Given the description of an element on the screen output the (x, y) to click on. 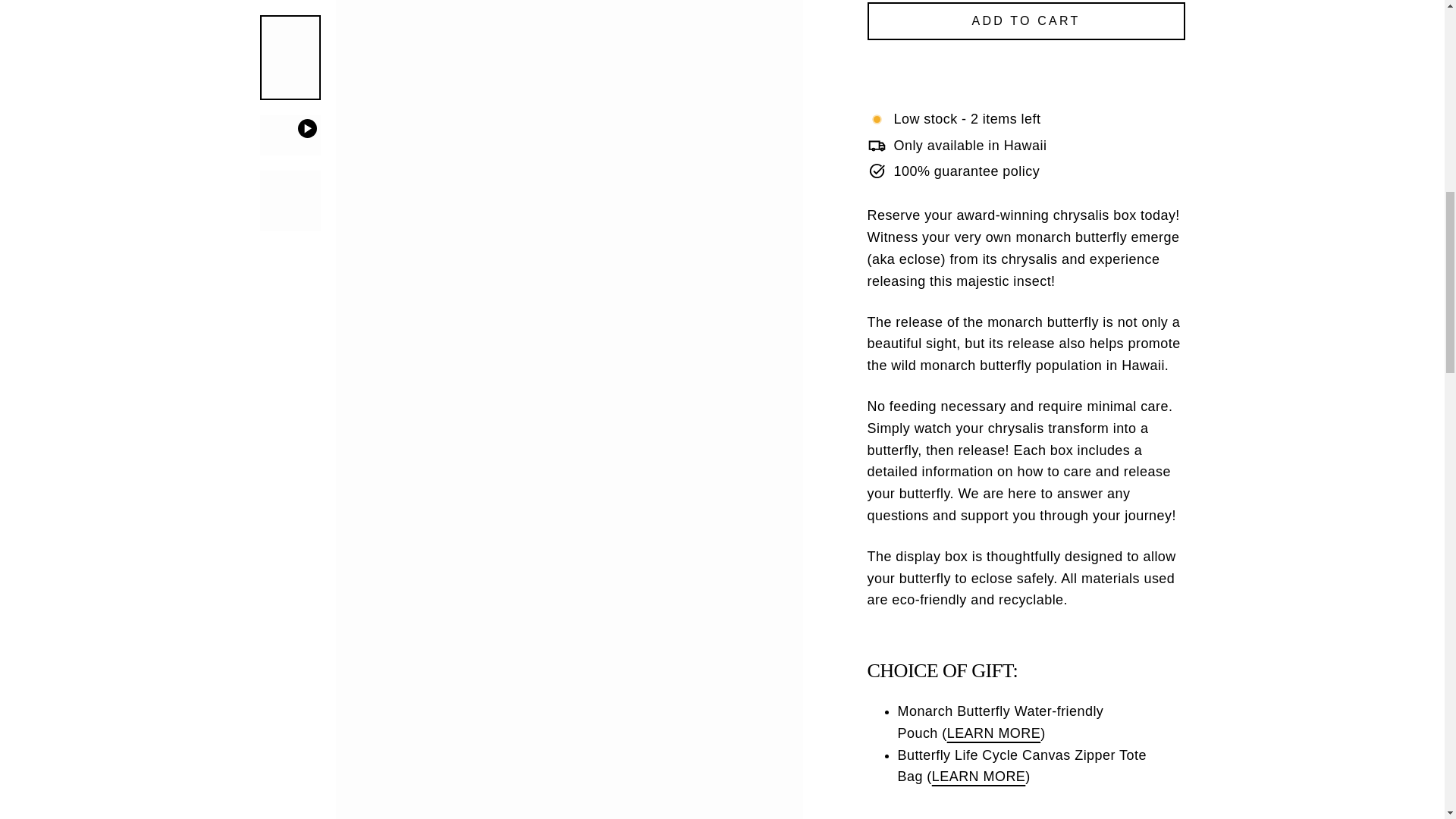
Tweet on Twitter (1028, 631)
Monarch Butterfly Water-friendly Pouch (994, 534)
Share on Facebook (949, 631)
Pin on Pinterest (1104, 631)
